Given the description of an element on the screen output the (x, y) to click on. 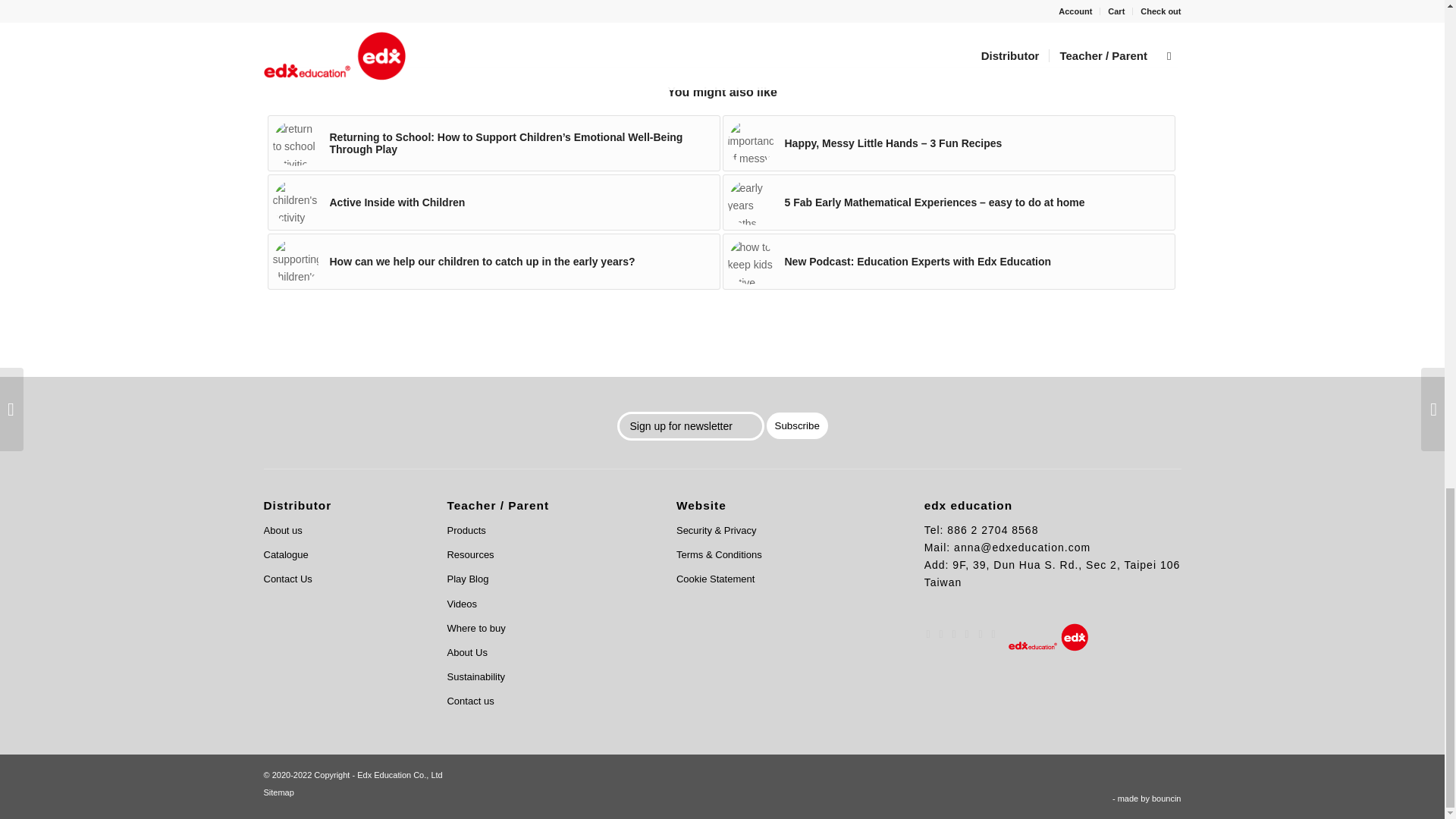
2021.02 newsletter (295, 143)
Active Inside with Children (492, 202)
Products (542, 530)
Subscribe (797, 425)
Catalogue (336, 554)
Active Inside with Children (492, 202)
Contact Us (336, 579)
New Podcast: Education Experts with Edx Education (948, 261)
How can we help our children to catch up in the early years? (492, 261)
About us (336, 530)
Subscribe (797, 425)
